Given the description of an element on the screen output the (x, y) to click on. 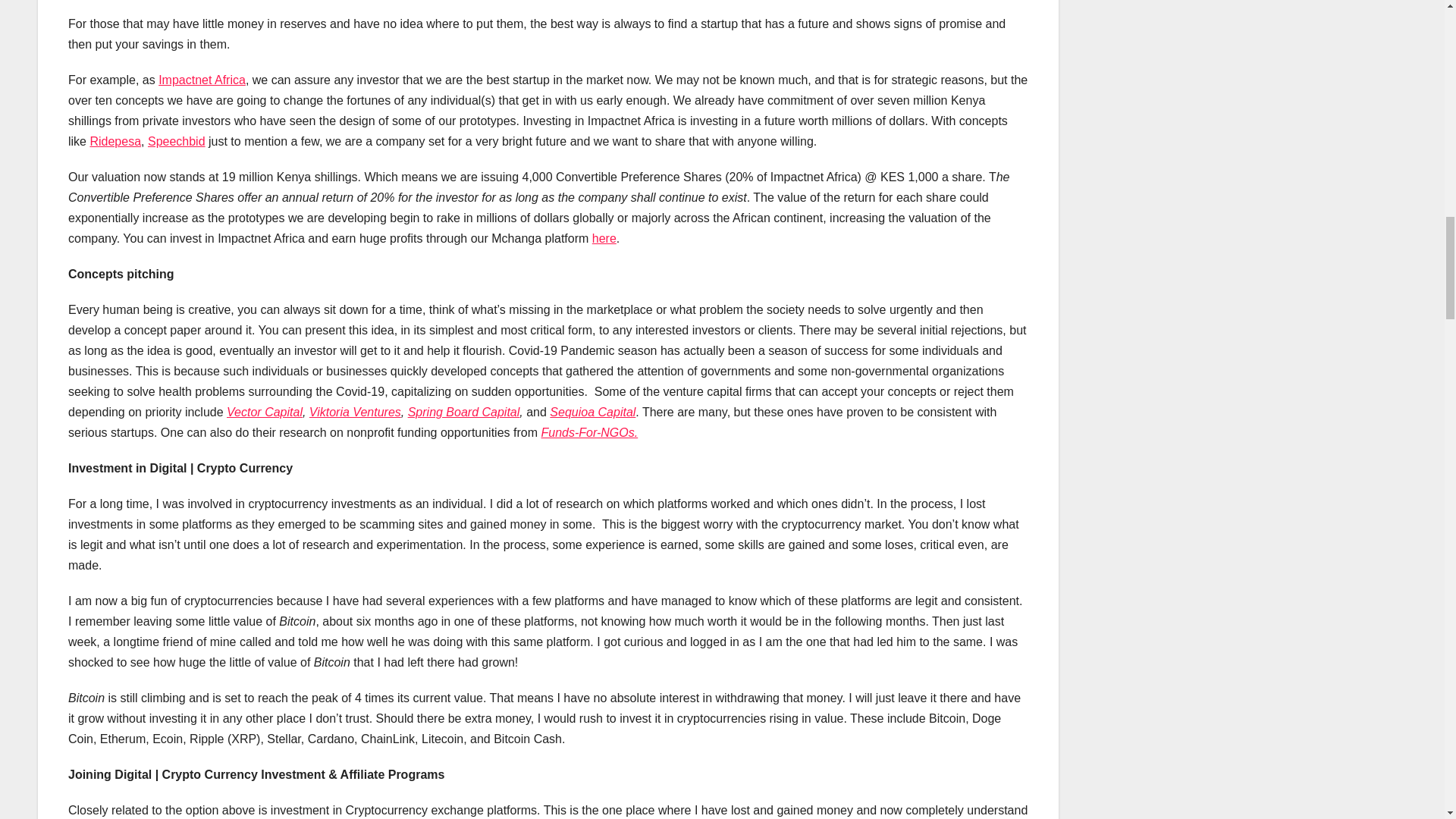
Vector Capital (264, 411)
Speechbid (176, 141)
here (603, 237)
Ridepesa (114, 141)
Impactnet Africa (202, 79)
